Given the description of an element on the screen output the (x, y) to click on. 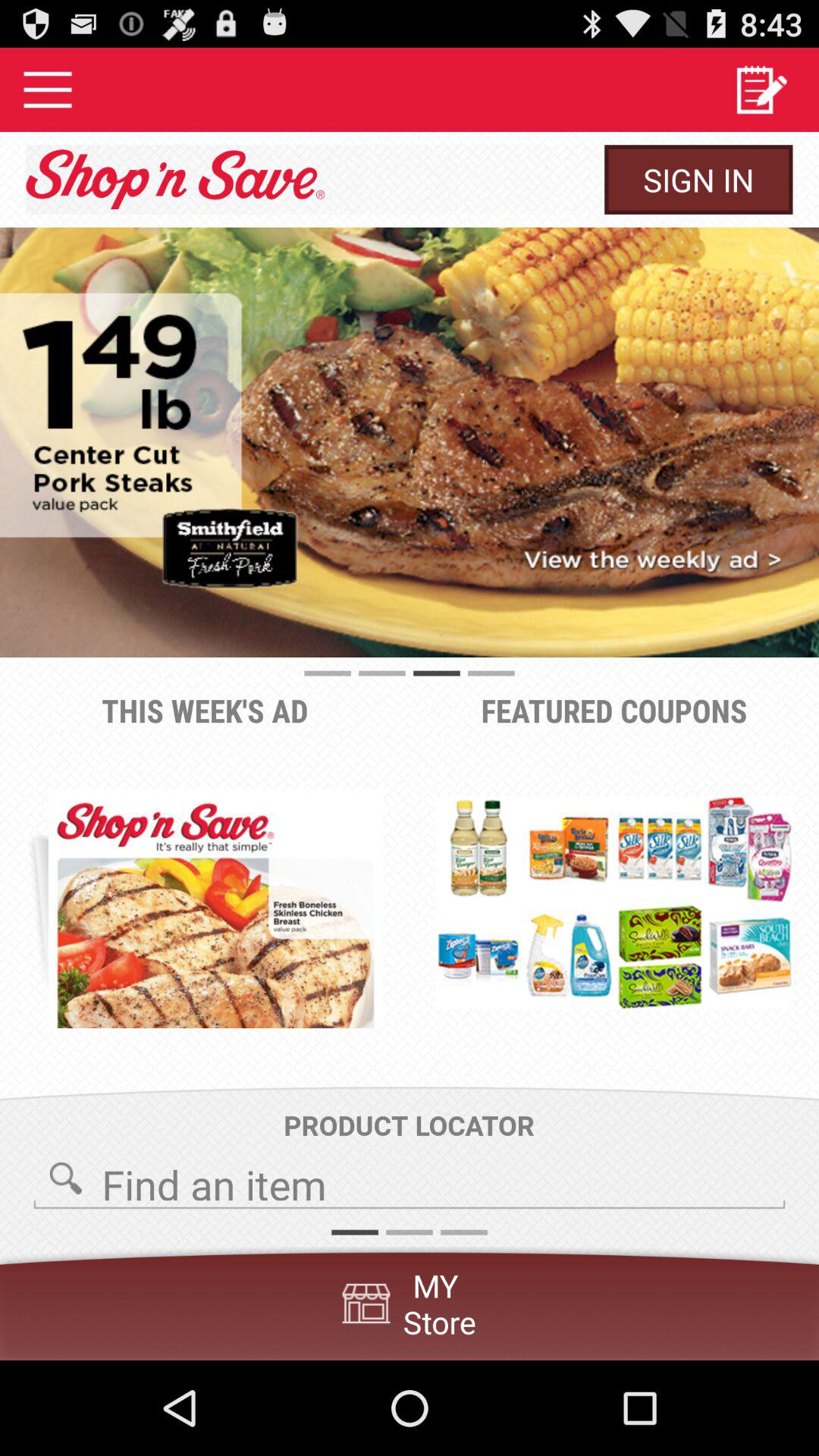
click item next to the featured coupons (215, 908)
